Given the description of an element on the screen output the (x, y) to click on. 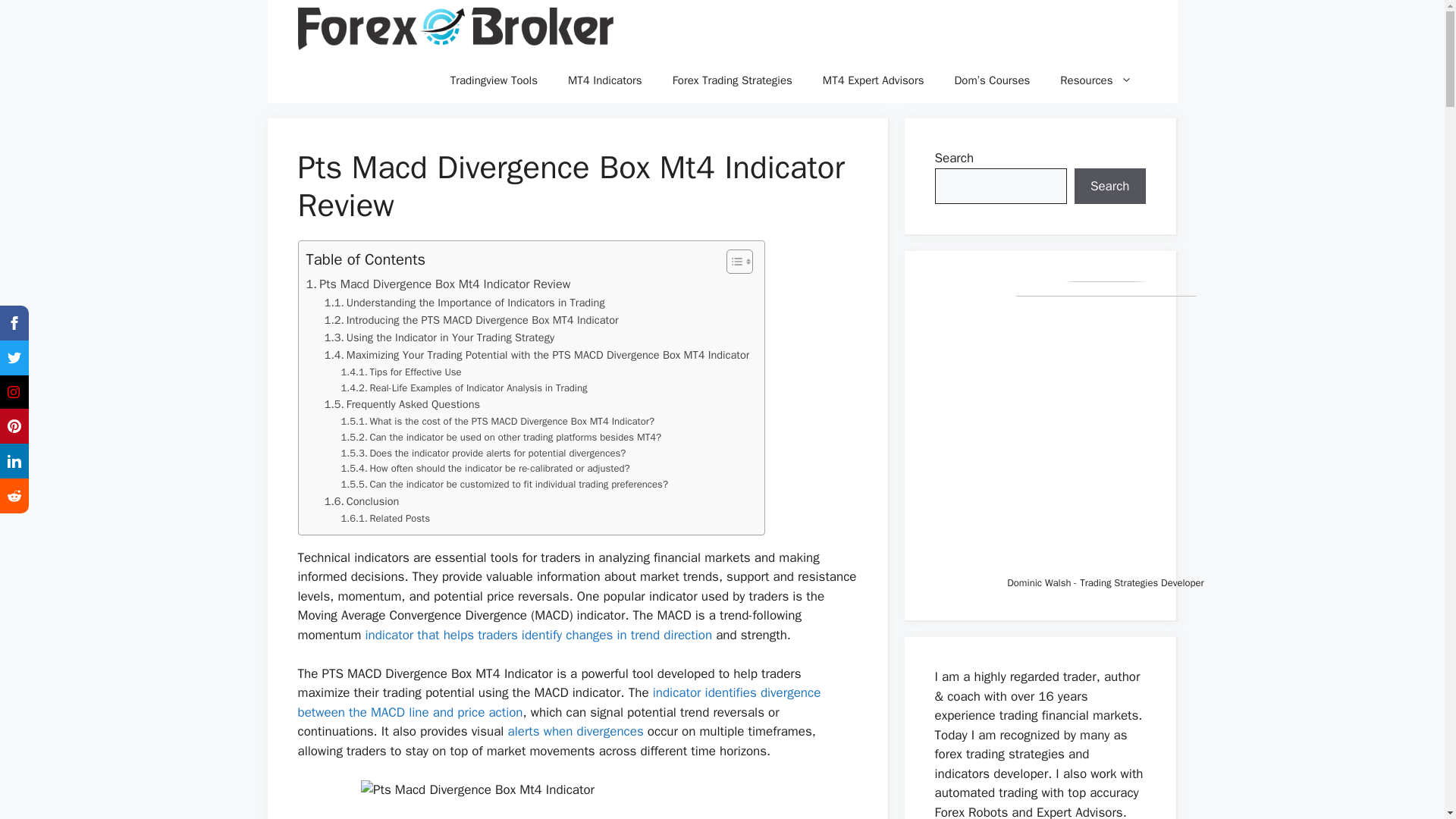
Does the indicator provide alerts for potential divergences? (483, 453)
Tradingview Tools (494, 80)
Frequently Asked Questions (402, 404)
Understanding the Importance of Indicators in Trading (464, 303)
Introducing the PTS MACD Divergence Box MT4 Indicator (471, 320)
Understanding the Importance of Indicators in Trading (464, 303)
